Given the description of an element on the screen output the (x, y) to click on. 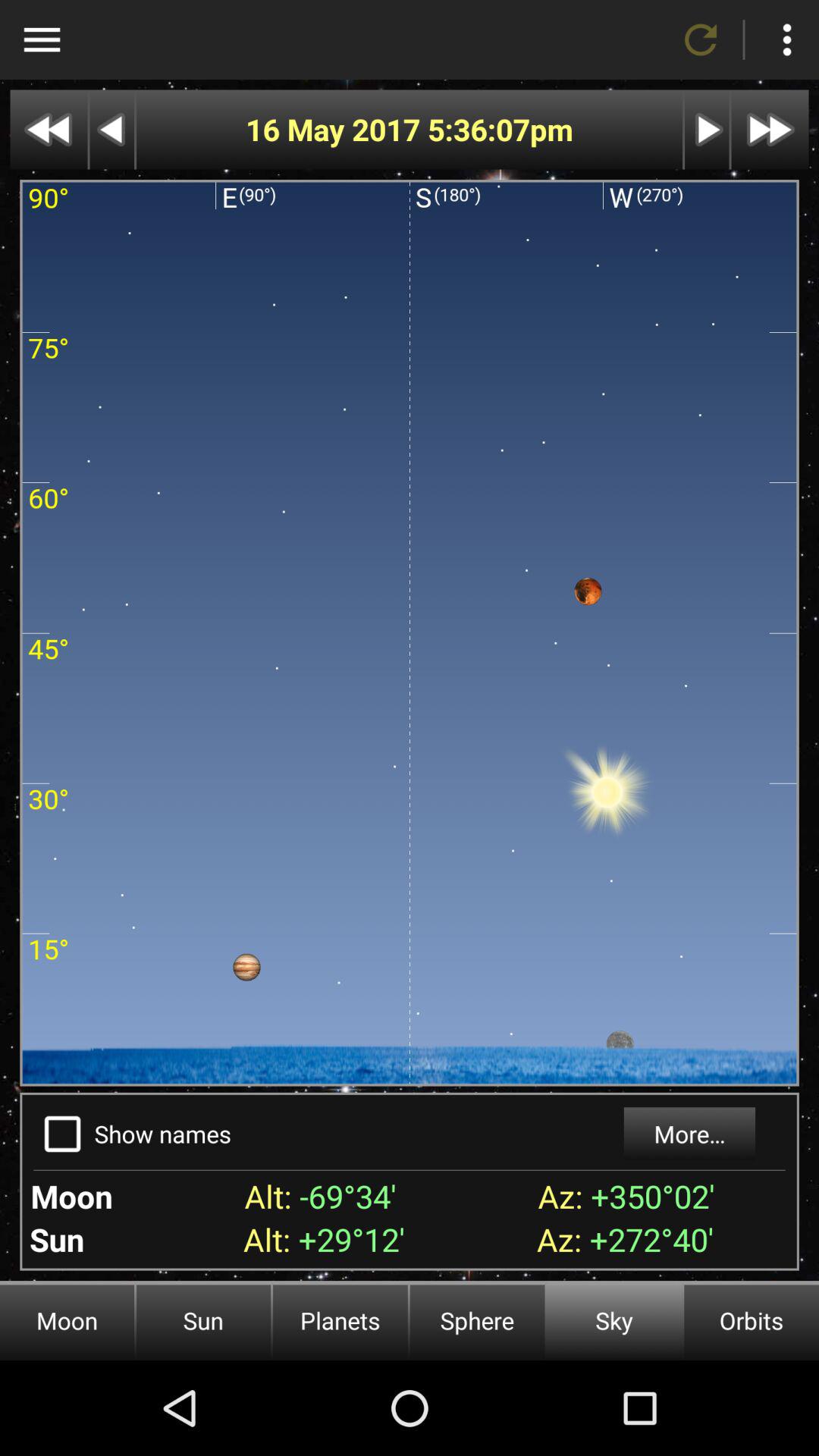
go back (48, 129)
